Given the description of an element on the screen output the (x, y) to click on. 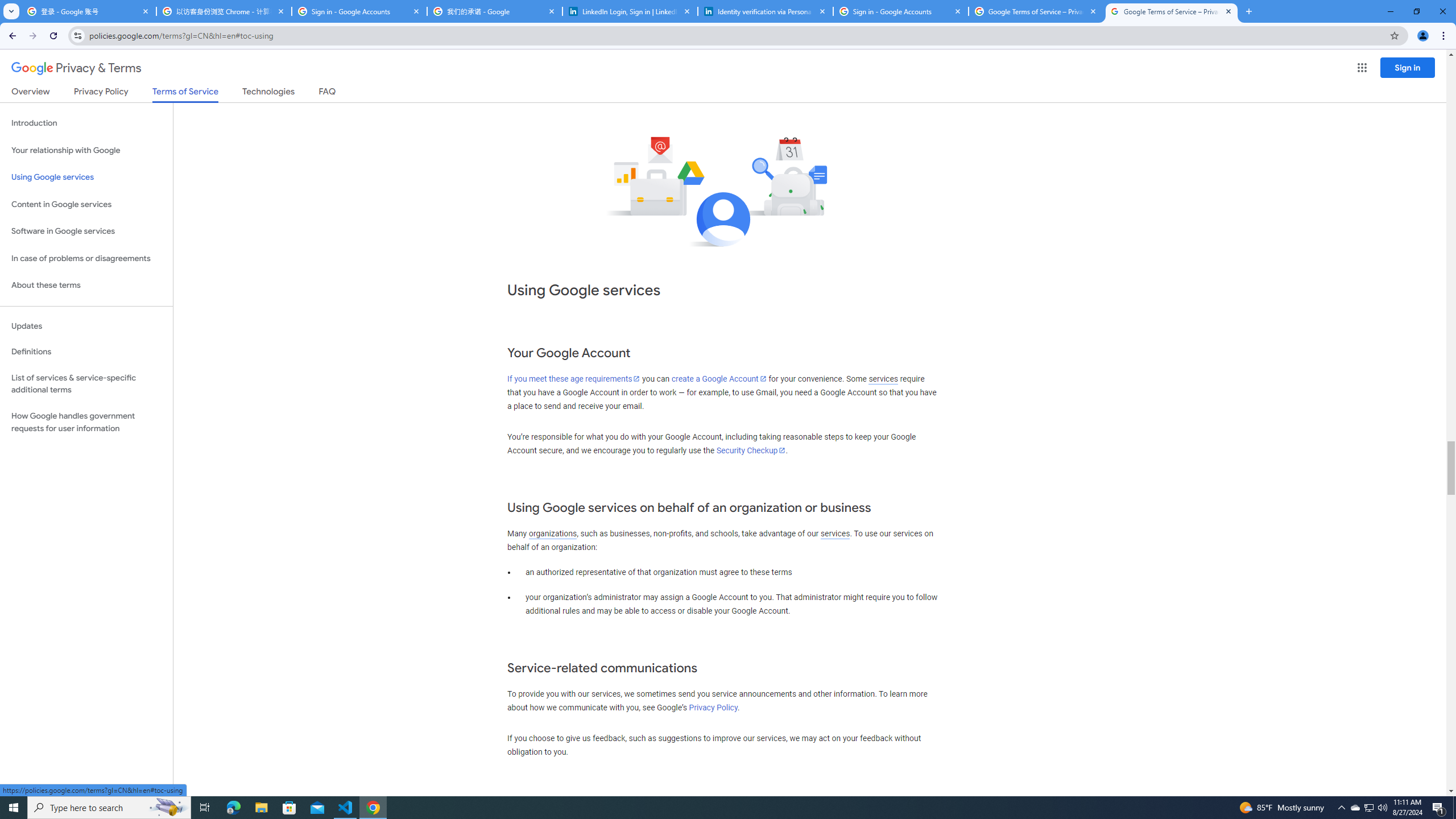
FAQ (327, 93)
Sign in - Google Accounts (901, 11)
services (834, 533)
Terms of Service (184, 94)
Security Checkup (751, 450)
create a Google Account (719, 378)
